Given the description of an element on the screen output the (x, y) to click on. 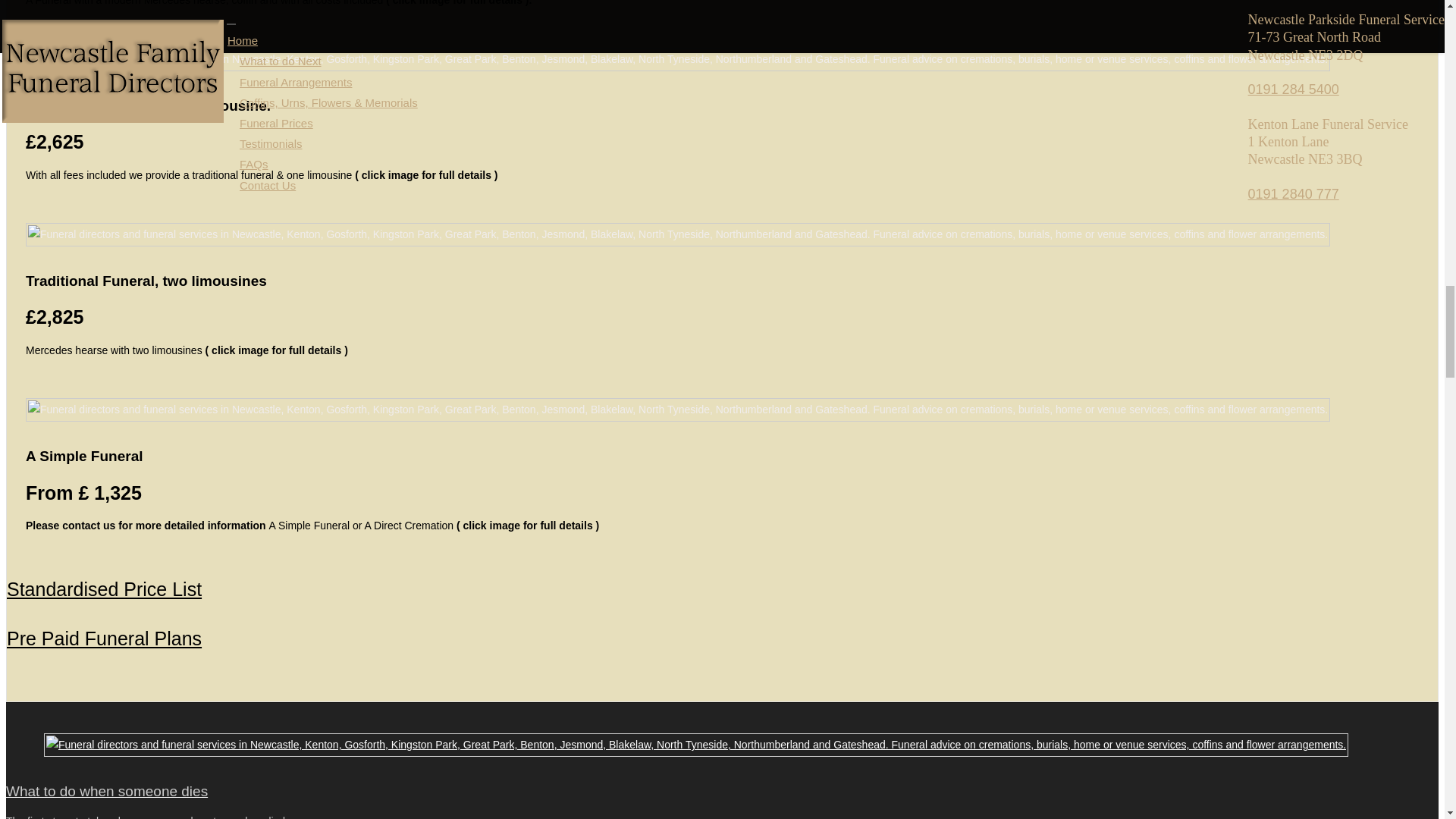
Standardised Price List (104, 588)
Pre Paid Funeral Plans (104, 638)
